Given the description of an element on the screen output the (x, y) to click on. 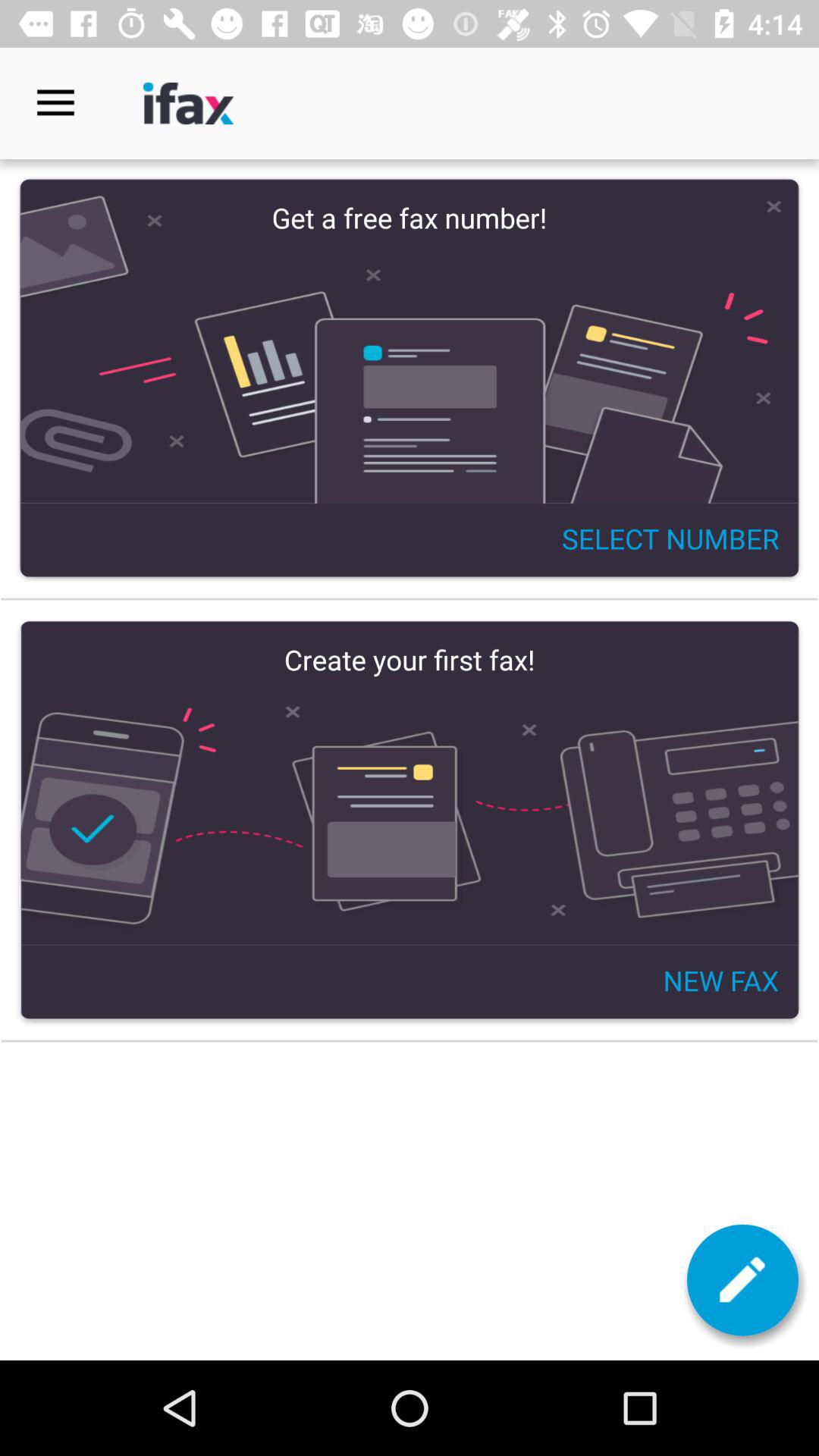
create new fax (409, 820)
